Given the description of an element on the screen output the (x, y) to click on. 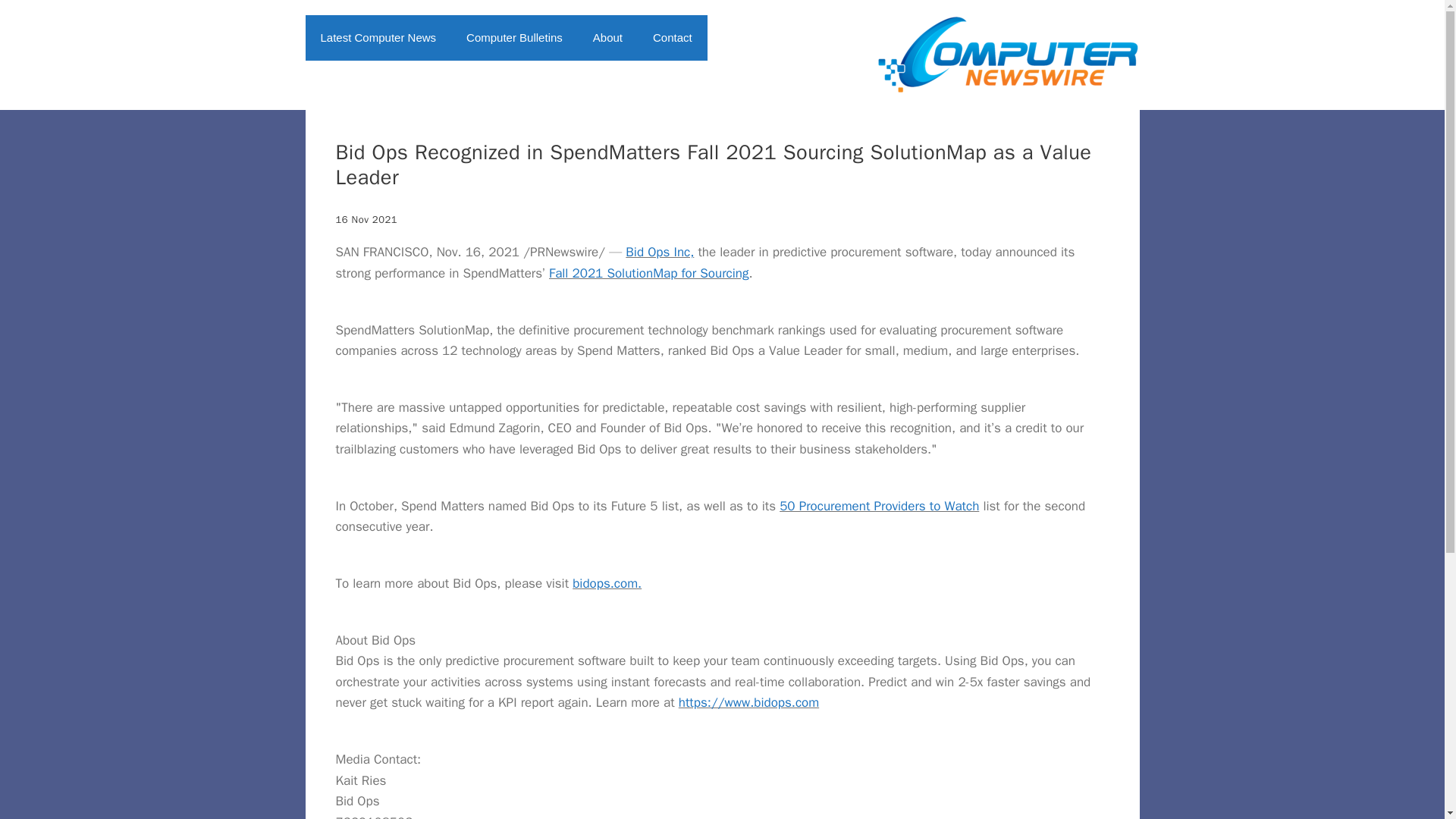
Computer Bulletins (514, 37)
50 Procurement Providers to Watch (878, 505)
Fall 2021 SolutionMap for Sourcing (648, 273)
bidops.com. (607, 583)
Bid Ops Inc, (660, 252)
Latest Computer News (377, 37)
About (607, 37)
Contact (672, 37)
